Given the description of an element on the screen output the (x, y) to click on. 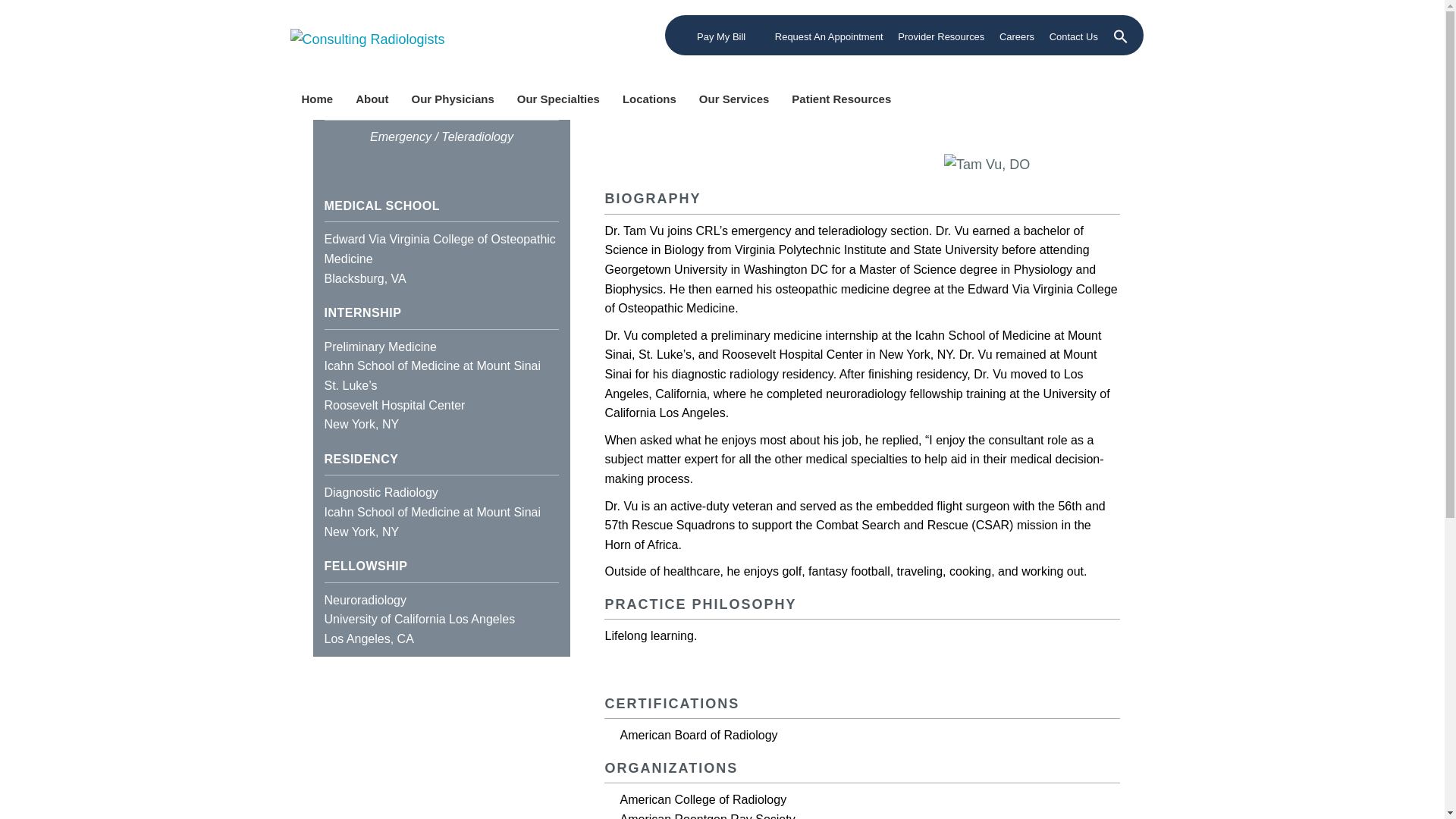
About (370, 96)
Our Physicians (452, 96)
Our Services (733, 96)
Home (316, 96)
Contact Us (1073, 37)
Careers (1016, 37)
Pay My Bill (715, 37)
Request An Appointment (821, 37)
Locations (649, 96)
Our Specialties (558, 96)
